Given the description of an element on the screen output the (x, y) to click on. 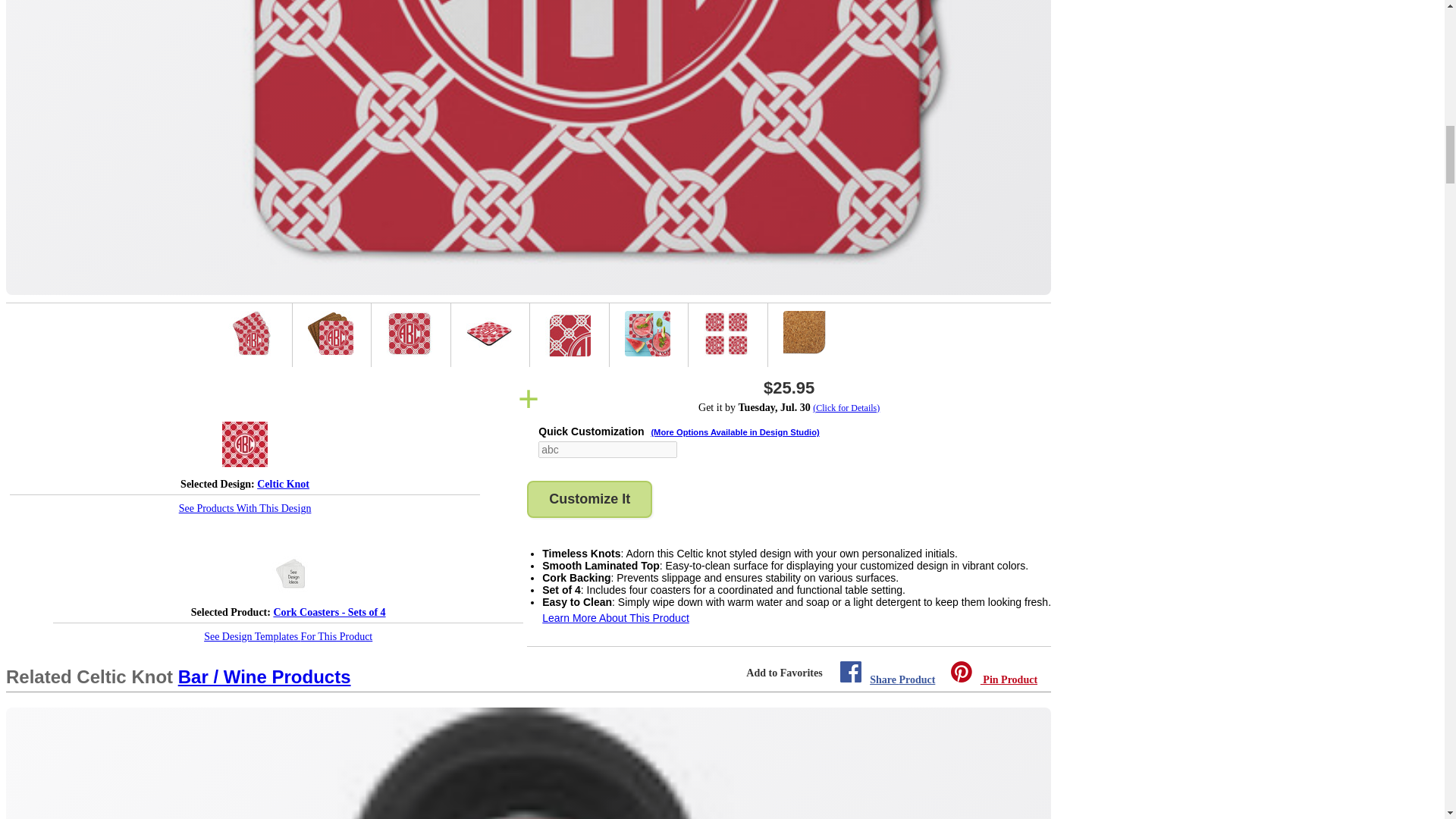
Learn More About This Product (614, 617)
Calculate Shipping (789, 408)
